Given the description of an element on the screen output the (x, y) to click on. 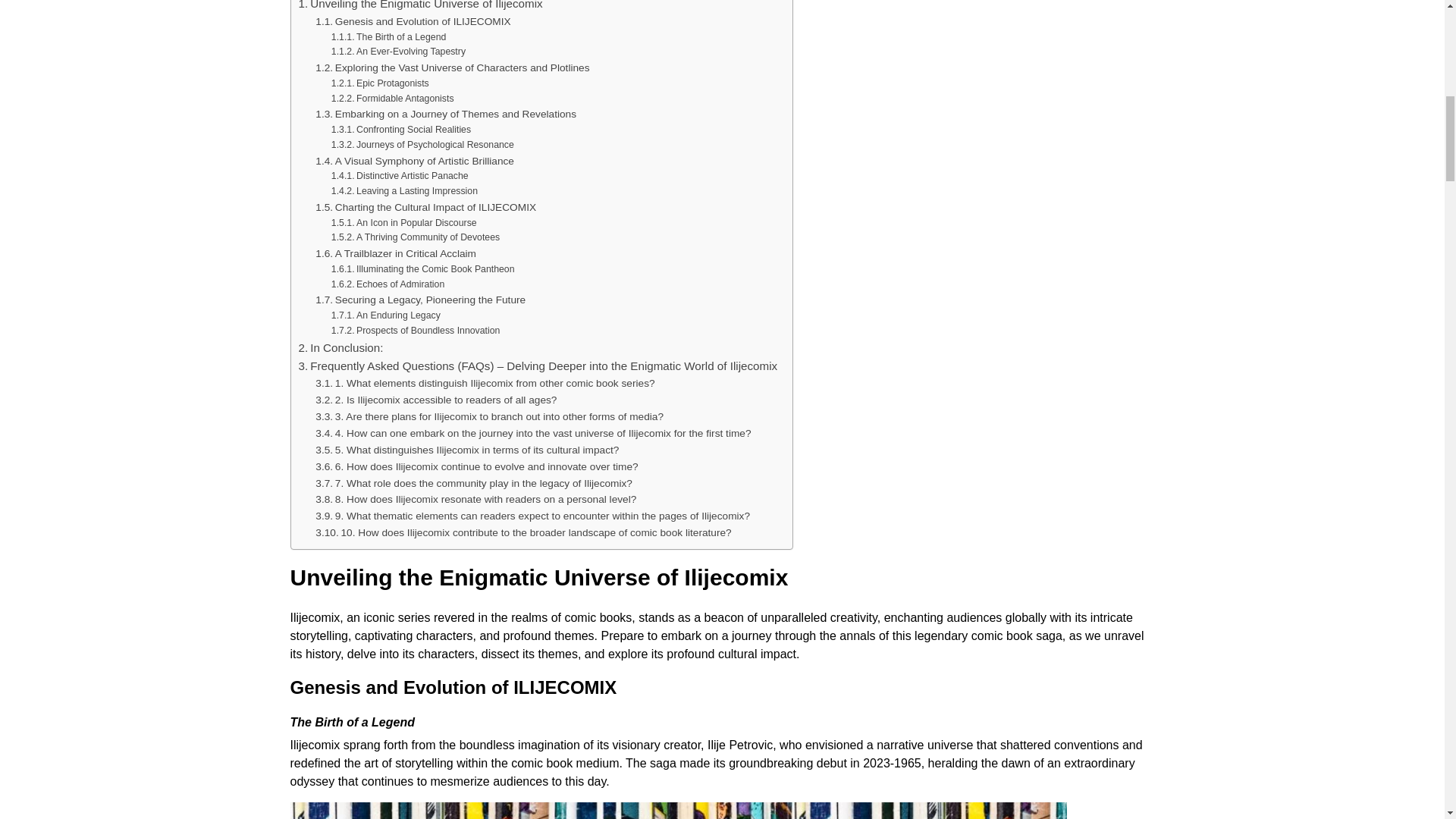
A Visual Symphony of Artistic Brilliance (414, 161)
Exploring the Vast Universe of Characters and Plotlines (452, 67)
Confronting Social Realities (400, 130)
An Ever-Evolving Tapestry (398, 52)
Distinctive Artistic Panache (399, 176)
Formidable Antagonists (392, 99)
Journeys of Psychological Resonance (422, 145)
Exploring the Vast Universe of Characters and Plotlines (452, 67)
A Visual Symphony of Artistic Brilliance (414, 161)
Unveiling the Enigmatic Universe of Ilijecomix (420, 6)
